Given the description of an element on the screen output the (x, y) to click on. 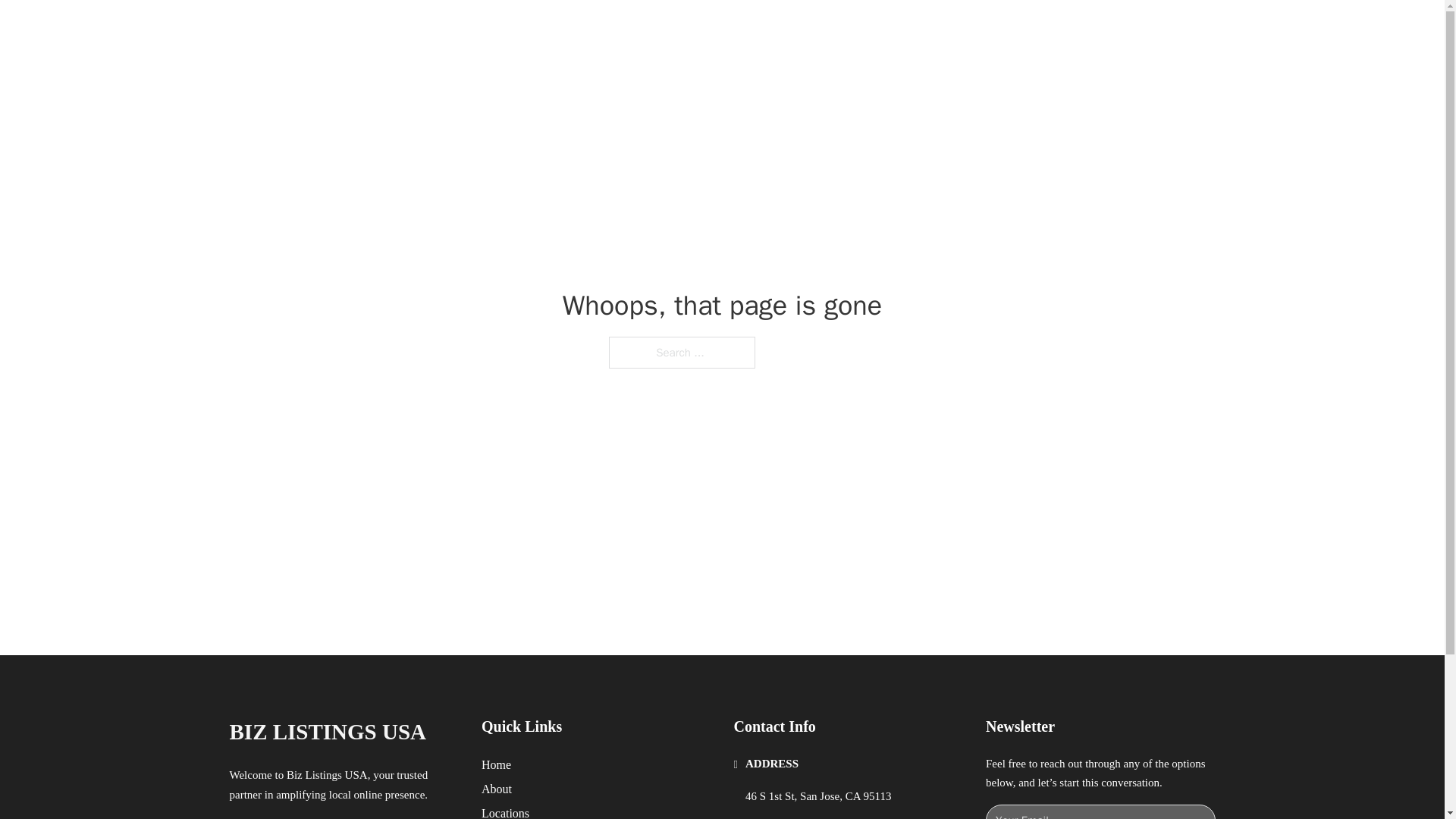
BIZ LISTINGS USA (327, 732)
About (496, 788)
Home (496, 764)
BIZ LISTINGS USA (400, 28)
LOCATIONS (990, 29)
HOME (919, 29)
Locations (505, 811)
